Given the description of an element on the screen output the (x, y) to click on. 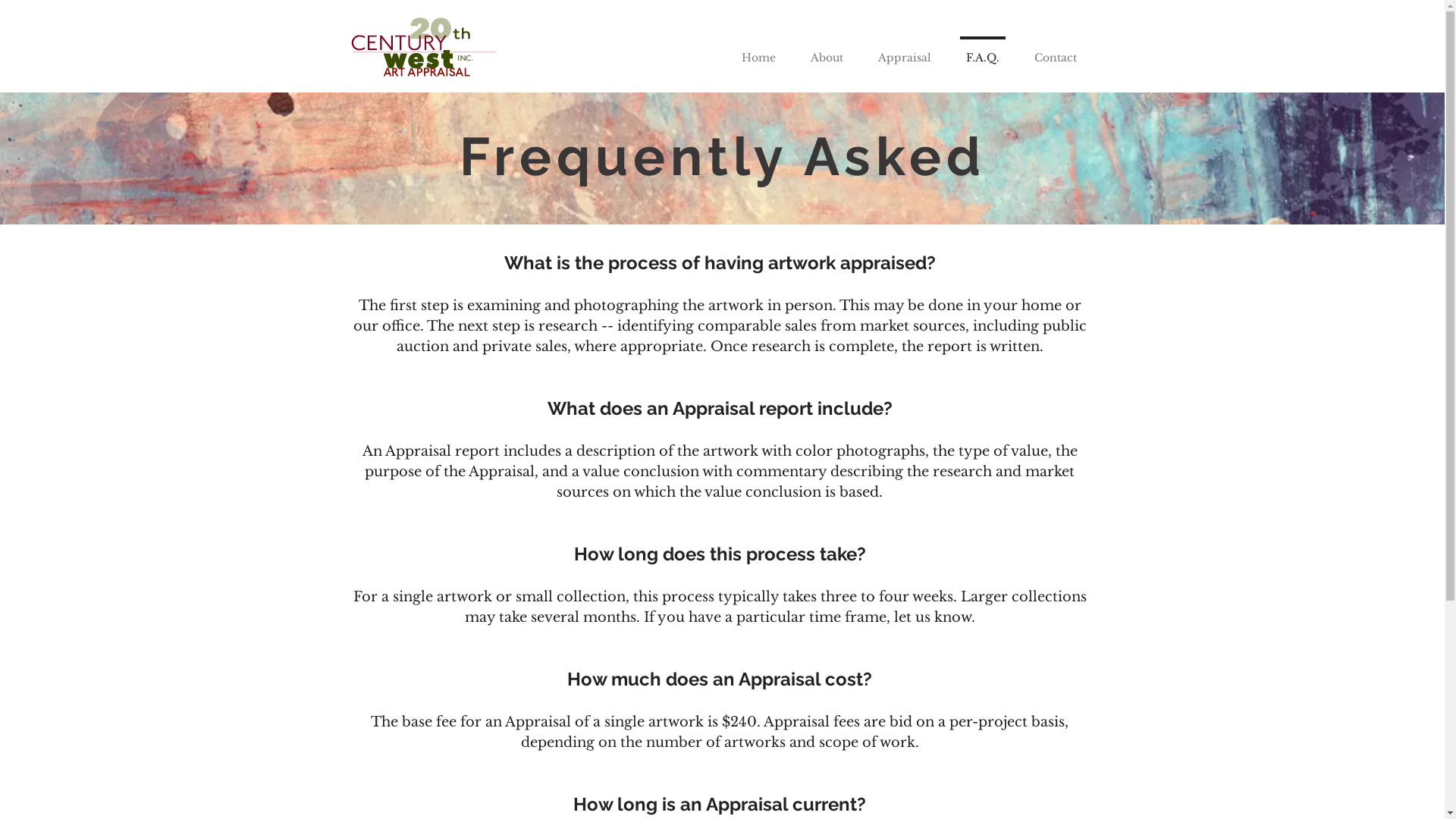
Contact Element type: text (1054, 50)
F.A.Q. Element type: text (981, 50)
Appraisal Element type: text (903, 50)
About Element type: text (826, 50)
Home Element type: text (757, 50)
